Given the description of an element on the screen output the (x, y) to click on. 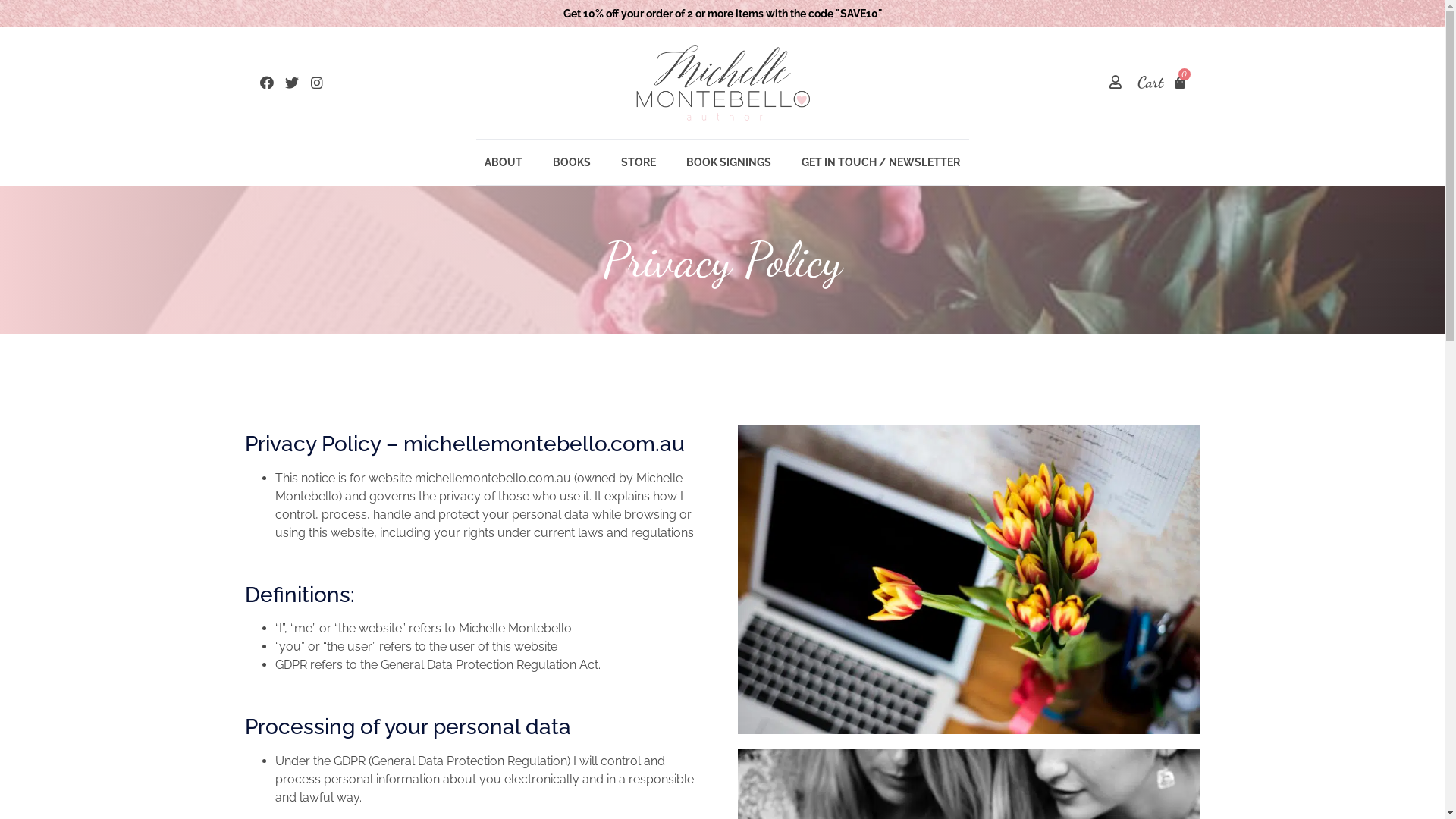
STORE Element type: text (638, 162)
BOOK SIGNINGS Element type: text (728, 162)
GET IN TOUCH / NEWSLETTER Element type: text (880, 162)
ABOUT Element type: text (503, 162)
BOOKS Element type: text (571, 162)
Cart
0 Element type: text (1161, 82)
